Given the description of an element on the screen output the (x, y) to click on. 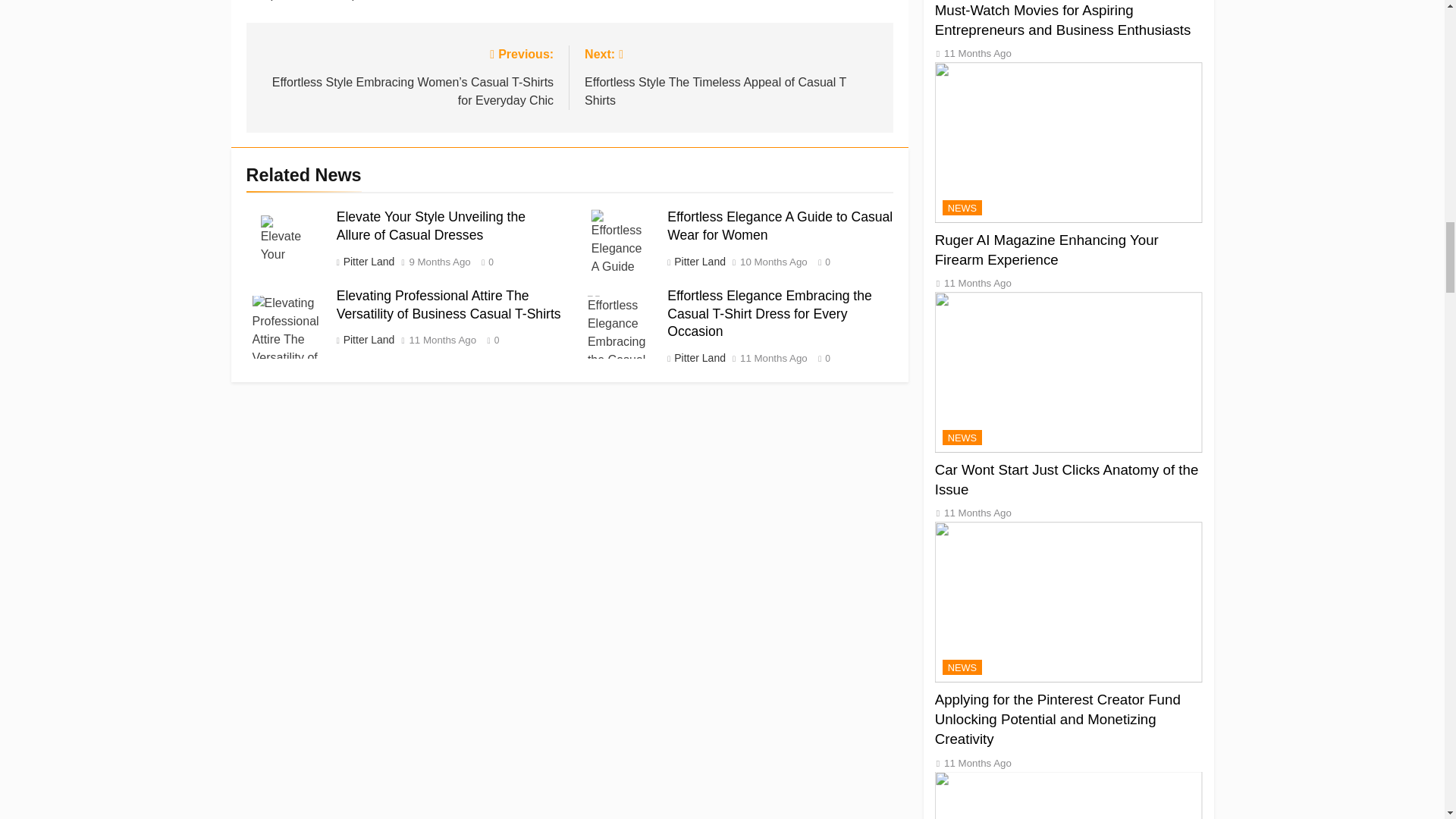
Elevate Your Style Unveiling the Allure of Casual Dresses (285, 240)
